Given the description of an element on the screen output the (x, y) to click on. 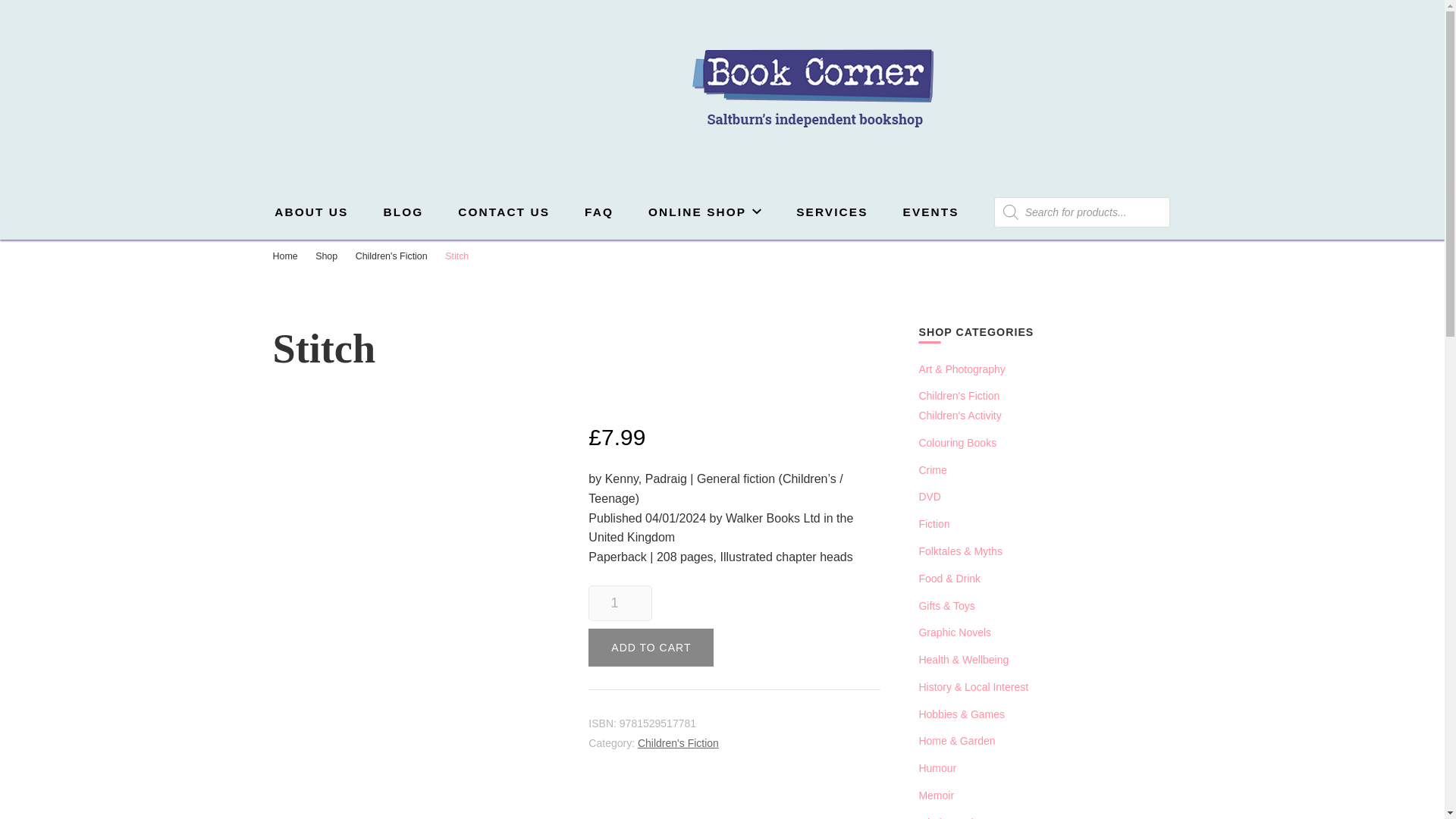
ONLINE SHOP (704, 211)
FAQ (598, 211)
ABOUT US (311, 211)
1 (619, 602)
Book Corner (600, 149)
CONTACT US (504, 211)
BLOG (402, 211)
